Given the description of an element on the screen output the (x, y) to click on. 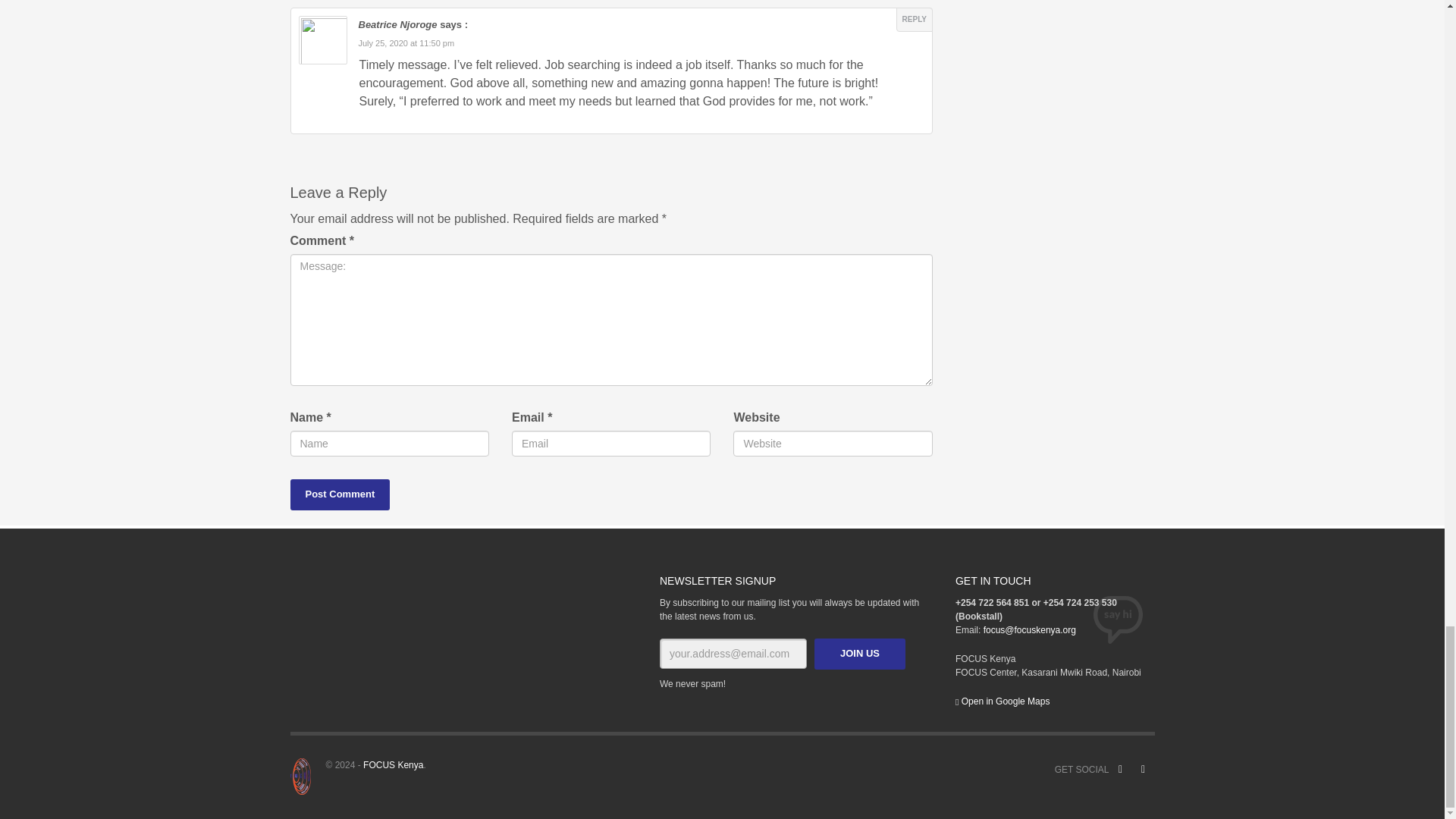
JOIN US (859, 653)
Post Comment (339, 494)
